Given the description of an element on the screen output the (x, y) to click on. 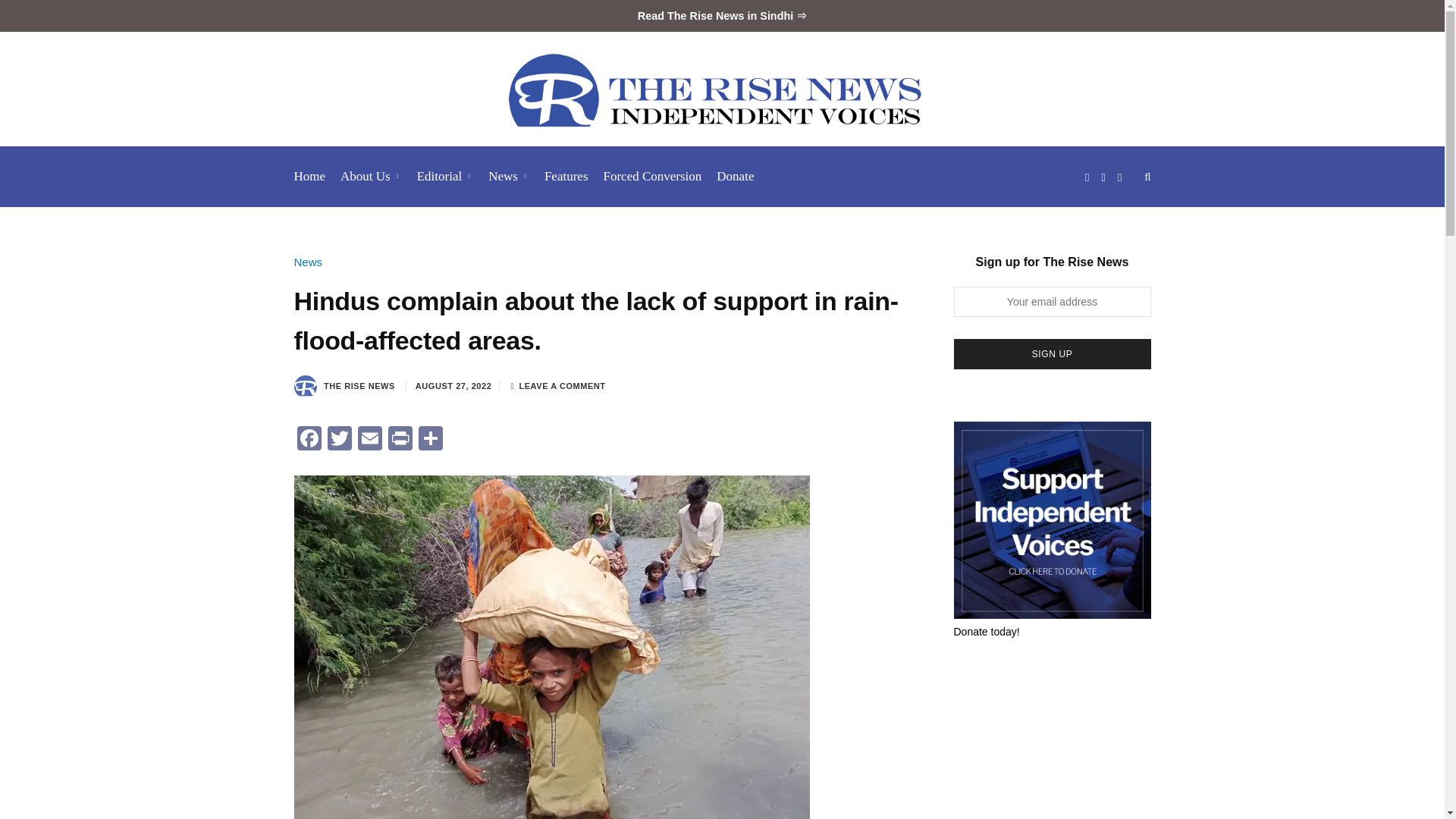
AUGUST 27, 2022 (453, 385)
Print (399, 439)
Facebook (309, 439)
News (308, 261)
Twitter (339, 439)
Editorial (444, 176)
About Us (371, 176)
Email (370, 439)
Features (566, 176)
Forced Conversion (652, 176)
